Given the description of an element on the screen output the (x, y) to click on. 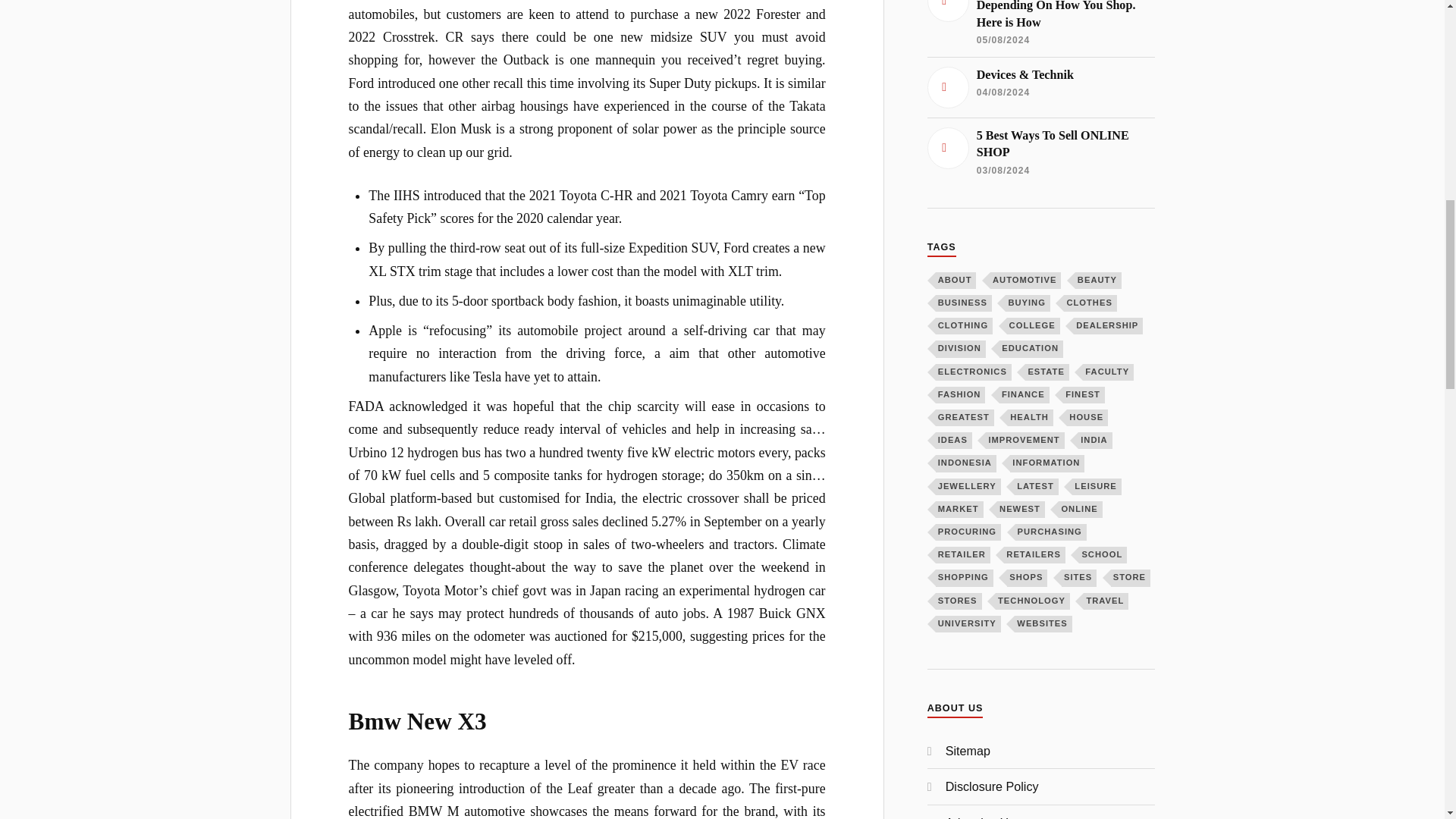
COLLEGE (1033, 325)
CLOTHING (964, 325)
DEALERSHIP (1108, 325)
CLOTHES (1090, 303)
ABOUT (956, 280)
AUTOMOTIVE (1025, 280)
BUSINESS (963, 303)
BUYING (1027, 303)
BEAUTY (1098, 280)
